Given the description of an element on the screen output the (x, y) to click on. 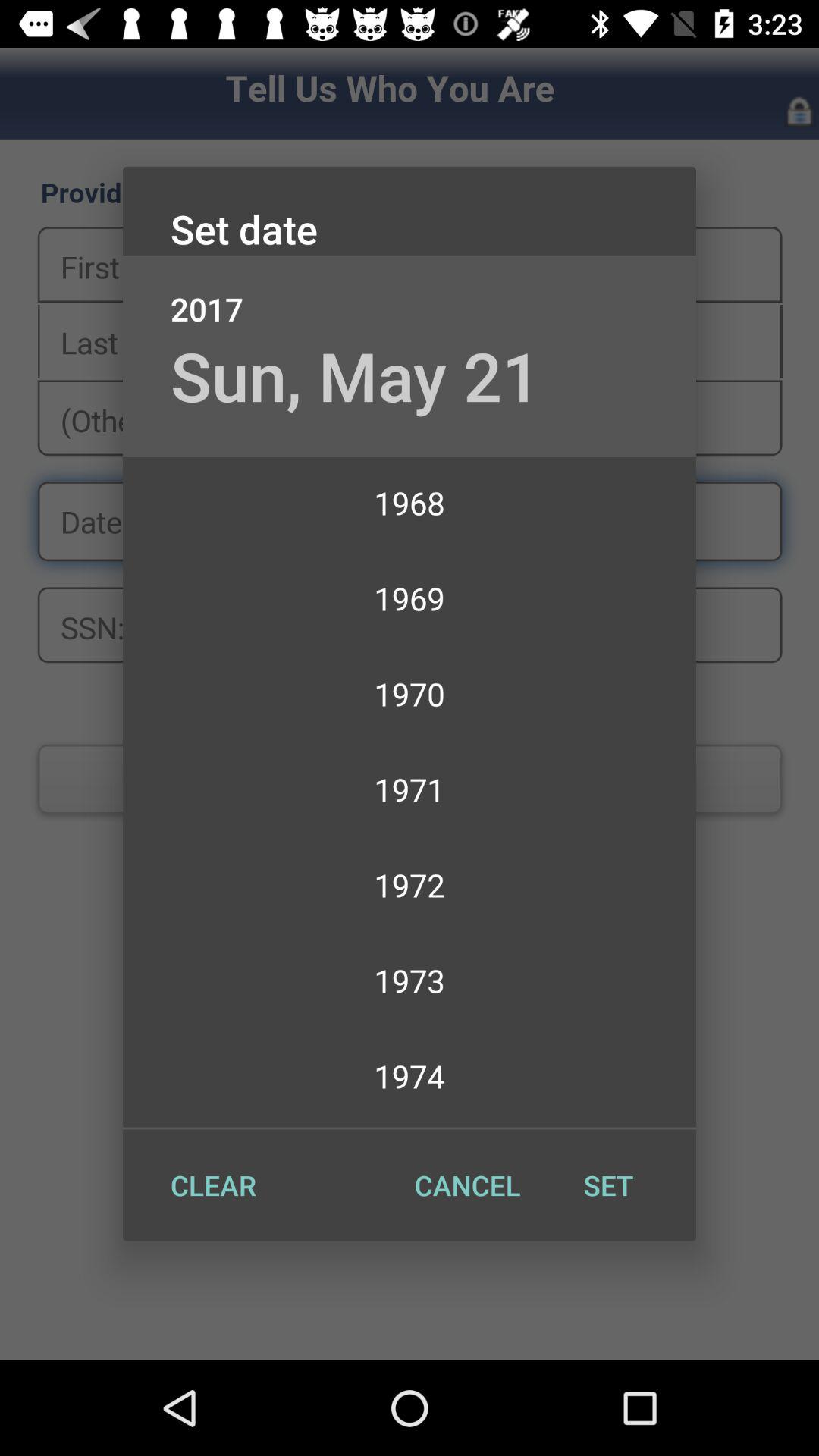
choose the sun, may 21 item (355, 375)
